Given the description of an element on the screen output the (x, y) to click on. 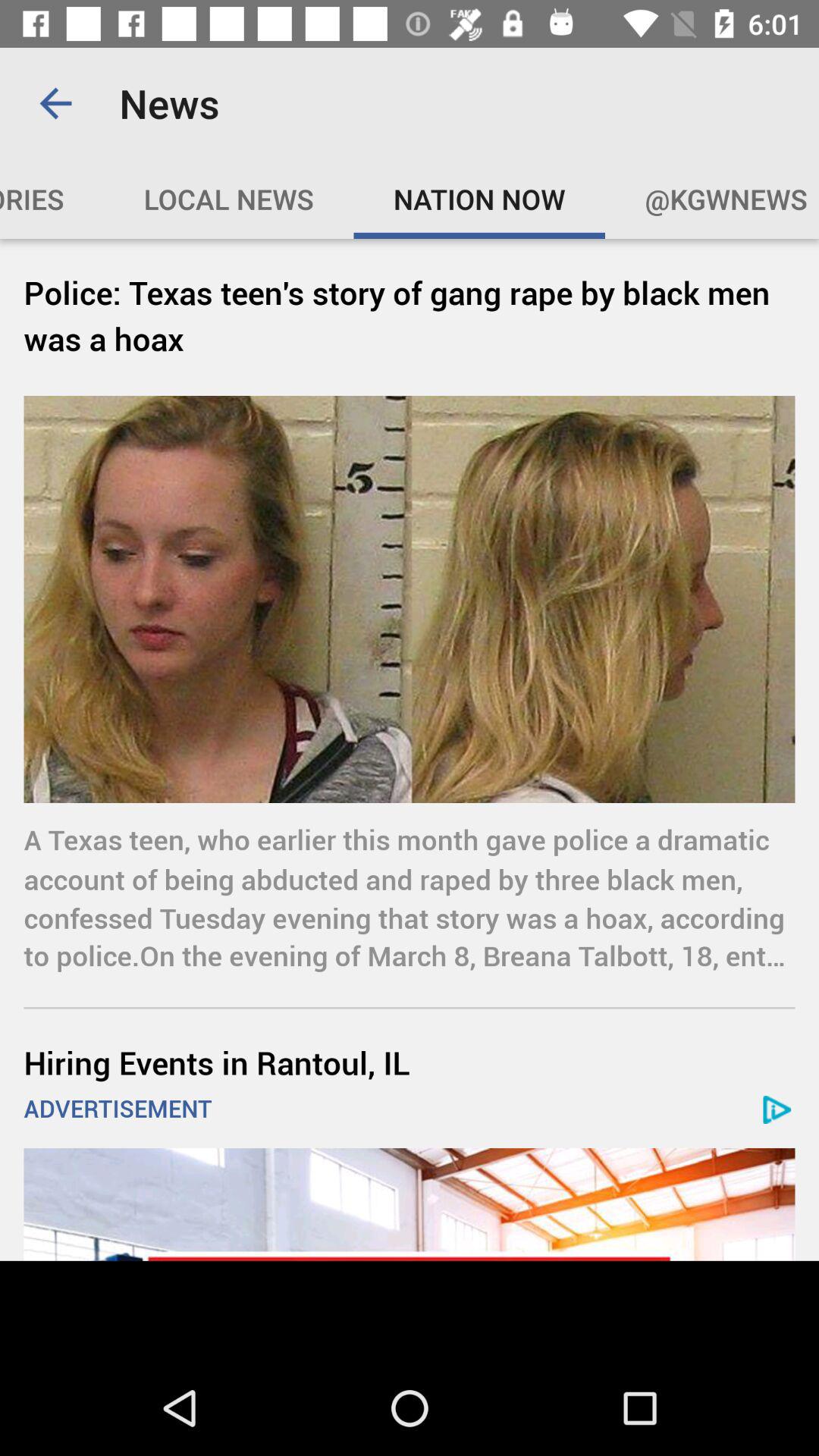
open advertisement (409, 1204)
